Given the description of an element on the screen output the (x, y) to click on. 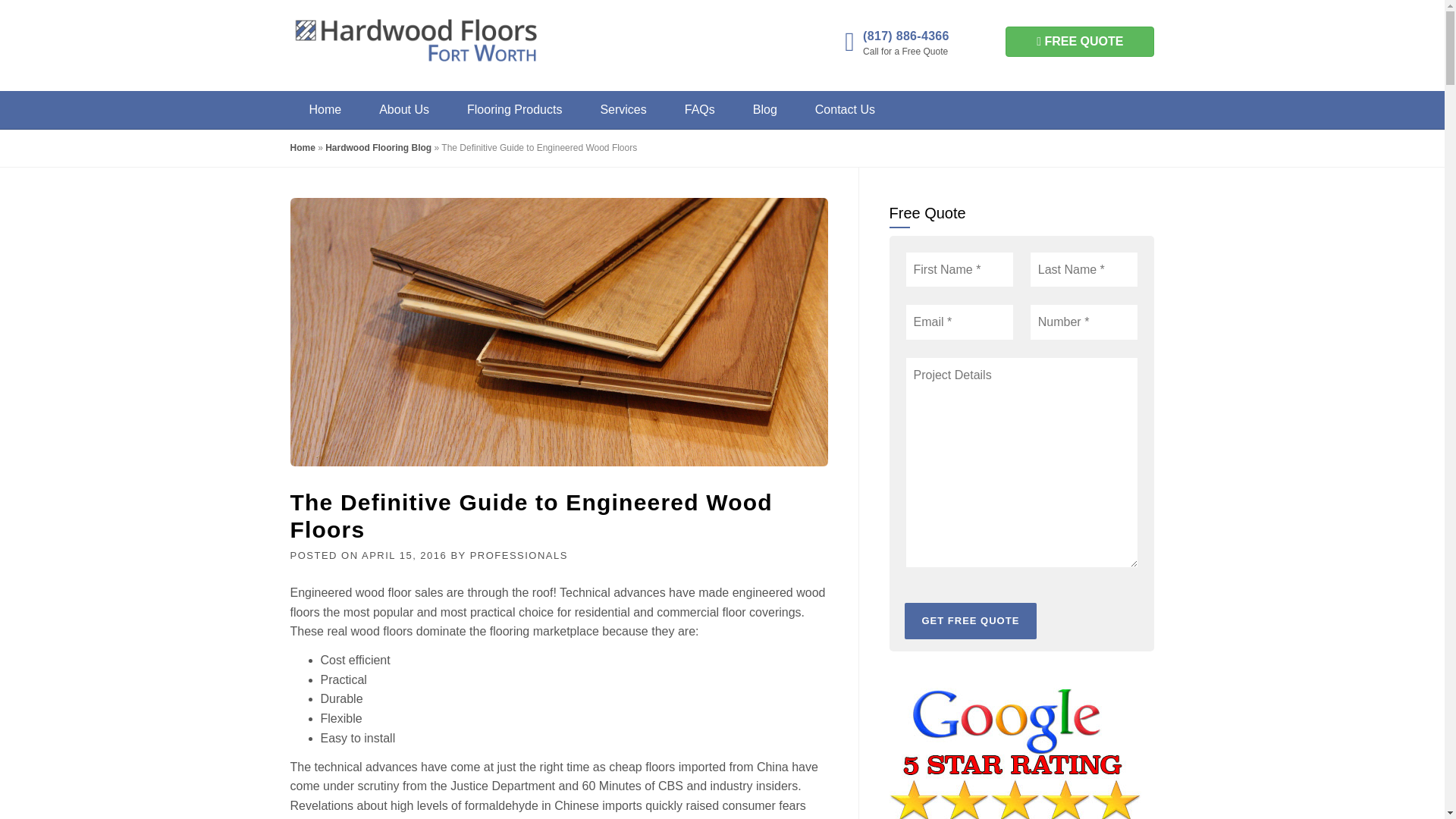
Get Free Quote (970, 620)
Hardwood Flooring Blog (377, 147)
Services (622, 109)
Contact Us (844, 109)
PROFESSIONALS (518, 555)
FAQs (699, 109)
Get Free Quote (970, 620)
Home (324, 109)
FREE QUOTE (1080, 41)
Flooring Products (514, 109)
Blog (764, 109)
APRIL 15, 2016 (403, 555)
About Us (403, 109)
Home (301, 147)
